Given the description of an element on the screen output the (x, y) to click on. 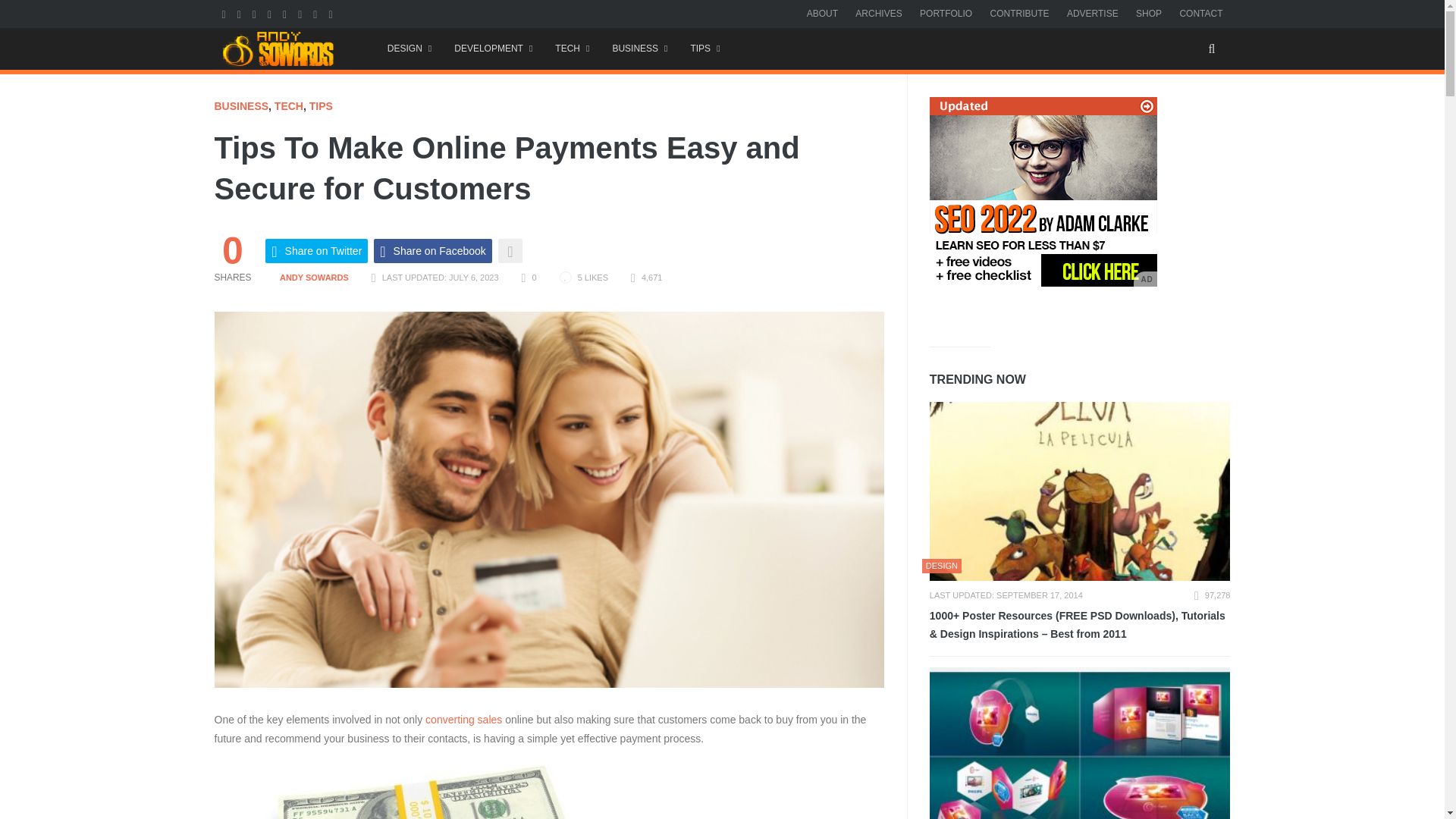
ABOUT (822, 13)
PORTFOLIO (946, 13)
SHOP (1148, 13)
CONTRIBUTE (1019, 13)
Design (408, 48)
ADVERTISE (1092, 13)
DEVELOPMENT (493, 48)
BUSINESS (638, 48)
ARCHIVES (878, 13)
CONTACT (1201, 13)
DESIGN (408, 48)
